Given the description of an element on the screen output the (x, y) to click on. 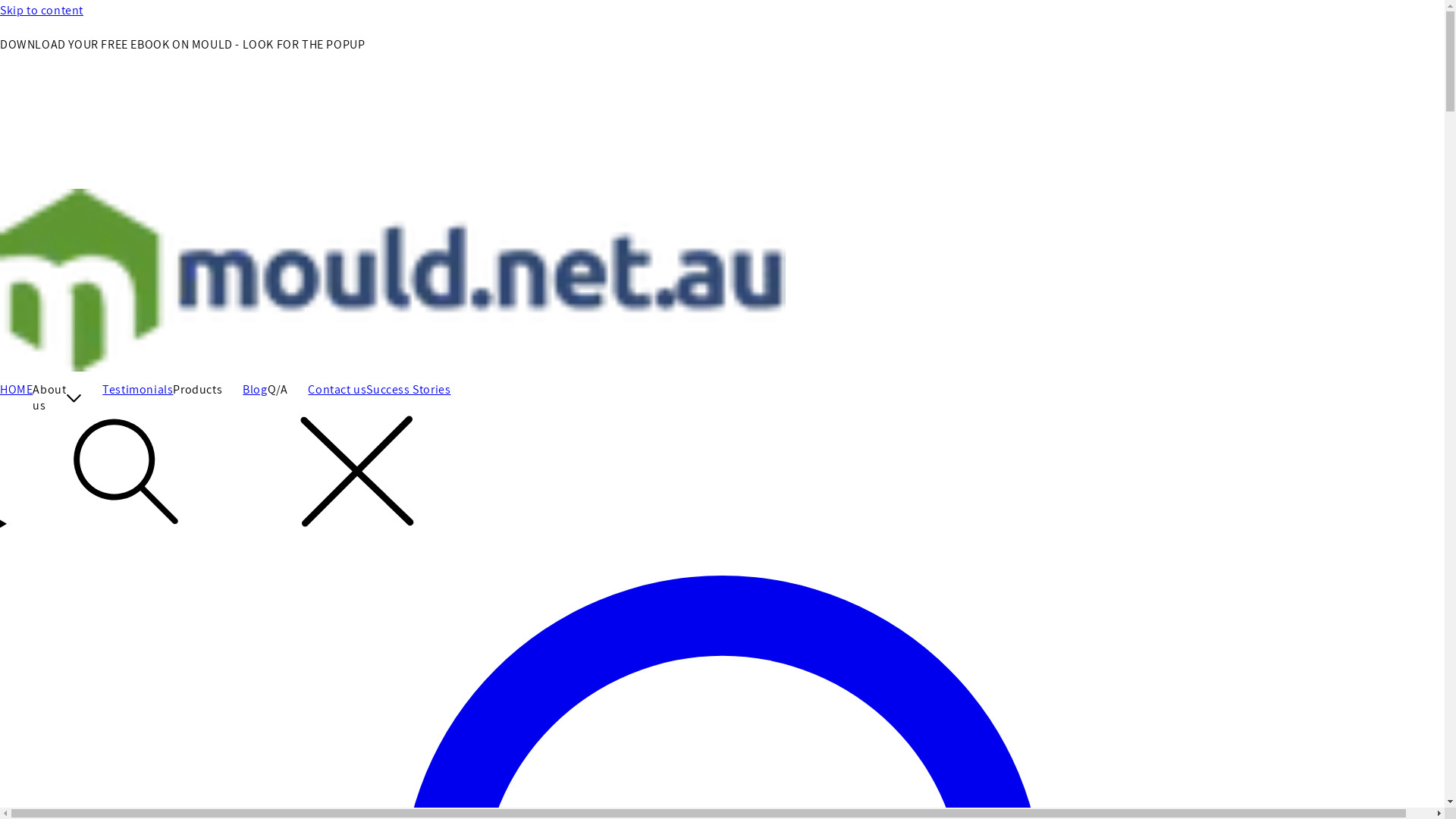
Contact us Element type: text (336, 390)
Skip to content Element type: text (722, 10)
Blog Element type: text (254, 390)
Success Stories Element type: text (408, 390)
Testimonials Element type: text (137, 390)
HOME Element type: text (16, 390)
